Given the description of an element on the screen output the (x, y) to click on. 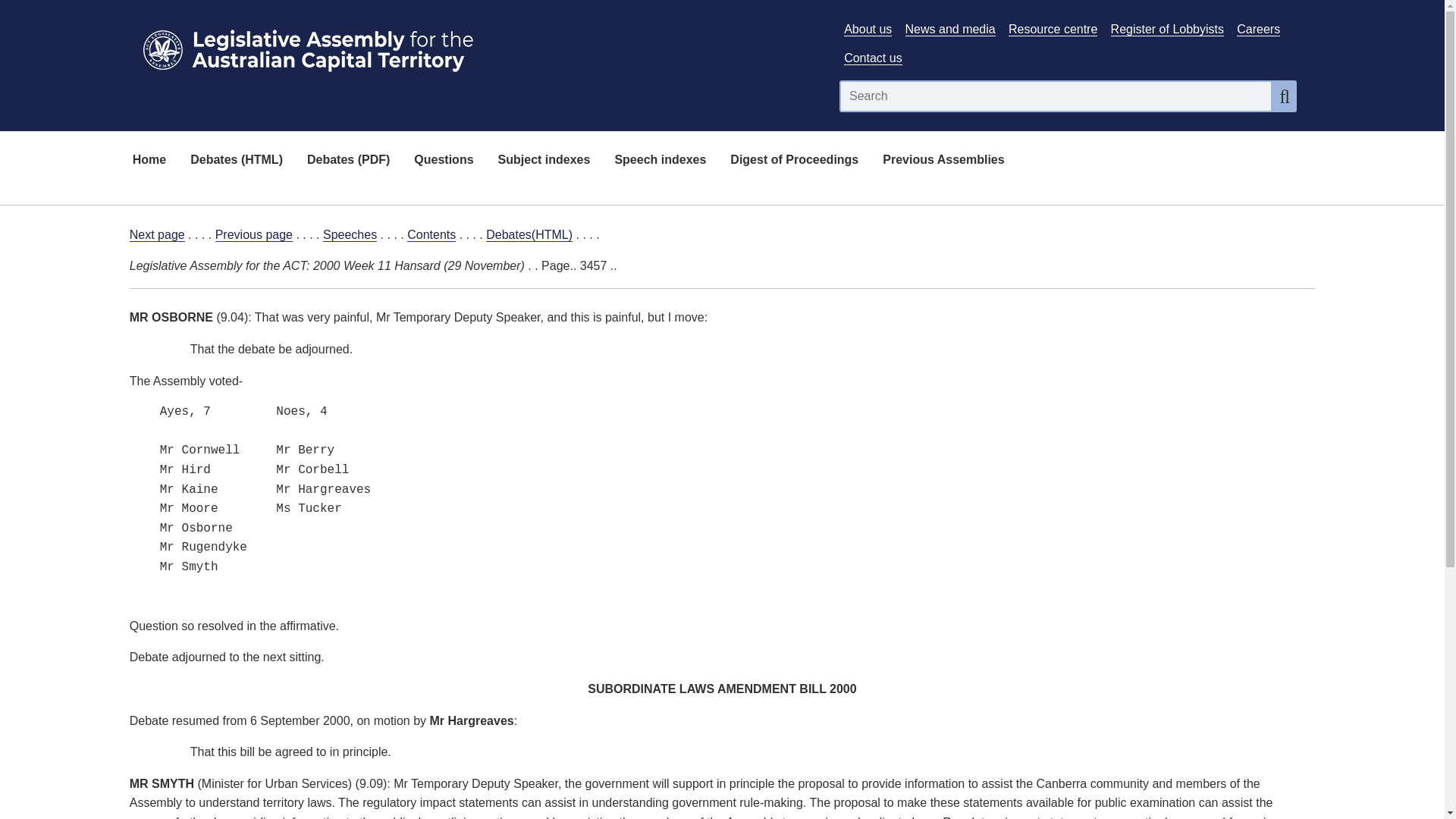
Next page (156, 234)
Link to Careers (1257, 29)
Link to Contact Us (872, 58)
Speech indexes (659, 160)
Link to News and media (950, 29)
News and media (950, 29)
Link to About Us (867, 29)
Link to Resource centre (1053, 29)
Speeches (350, 234)
Questions (442, 160)
